Given the description of an element on the screen output the (x, y) to click on. 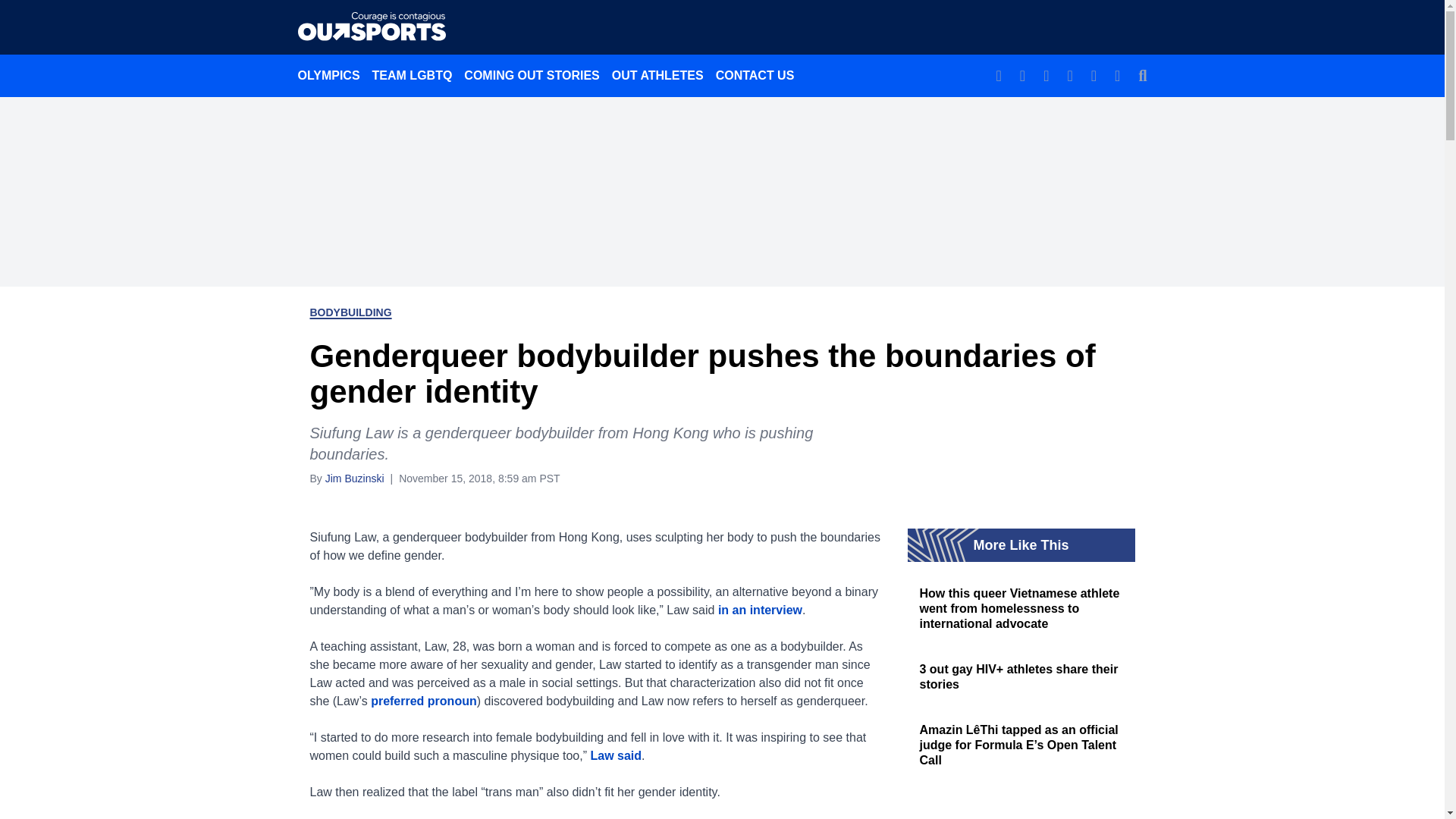
OUT ATHLETES (657, 75)
in an interview (759, 609)
Law said (615, 755)
TEAM LGBTQ (412, 75)
BODYBUILDING (349, 312)
OLYMPICS (328, 75)
Jim Buzinski (354, 477)
preferred pronoun (424, 700)
COMING OUT STORIES (531, 75)
